Given the description of an element on the screen output the (x, y) to click on. 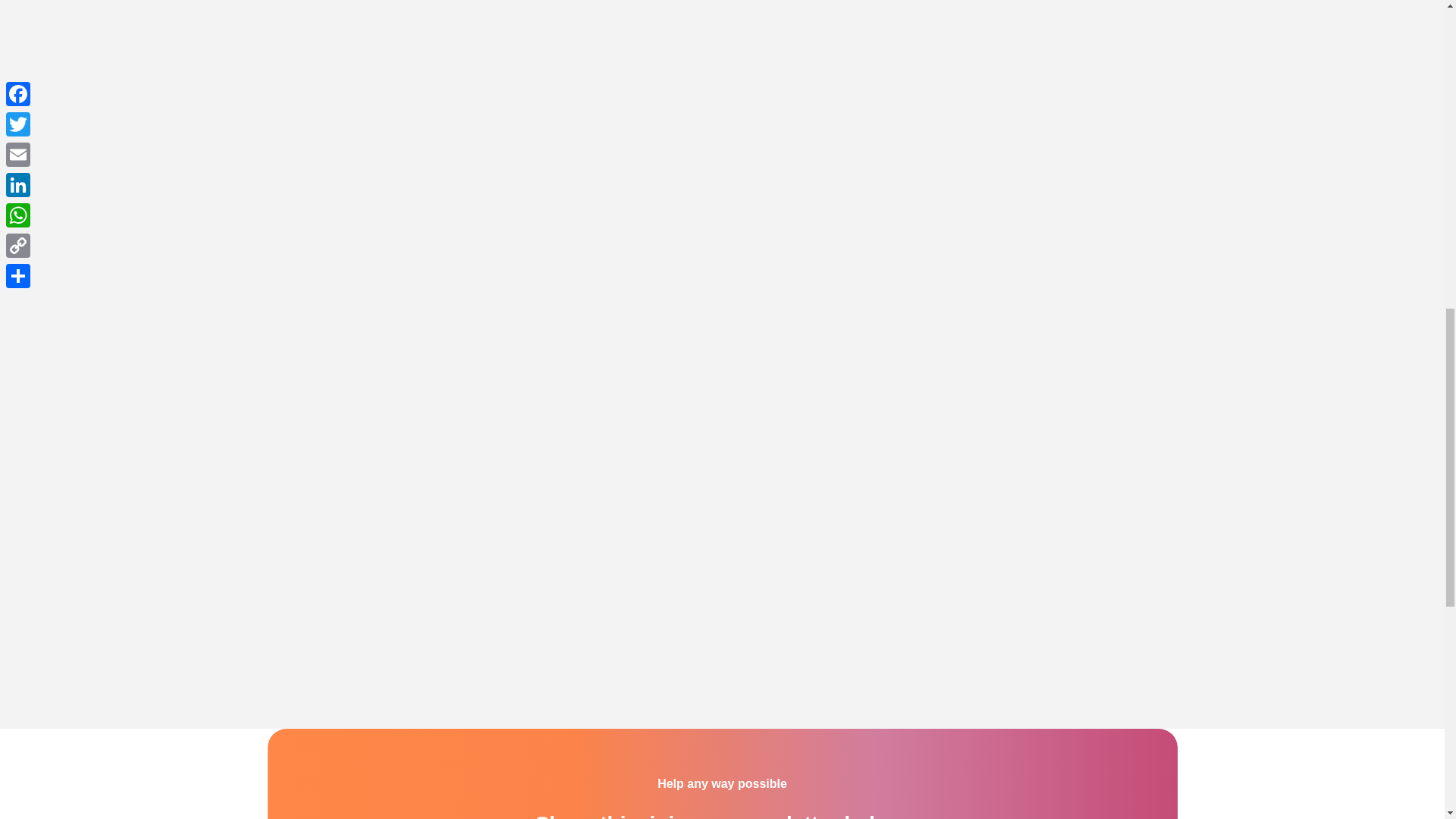
mp2 (418, 582)
mp4 (721, 354)
mp7 (721, 99)
mp7 (721, 135)
mp5 (418, 354)
mp8 (418, 135)
mp3 (1025, 354)
mp6 (1025, 135)
mp3 (1025, 316)
mp5 (418, 316)
